Given the description of an element on the screen output the (x, y) to click on. 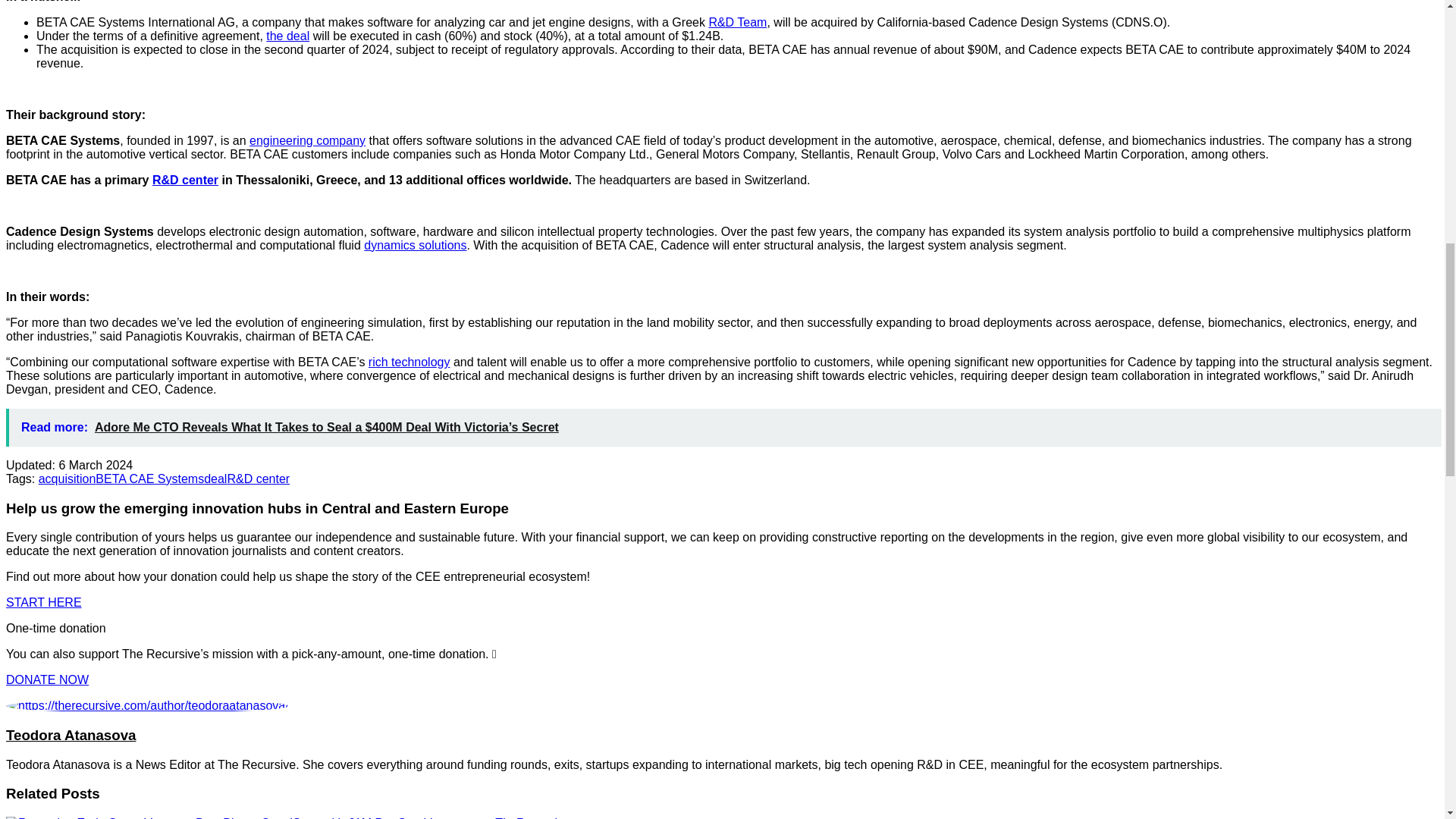
Posts by Teodora Atanasova (70, 734)
